Given the description of an element on the screen output the (x, y) to click on. 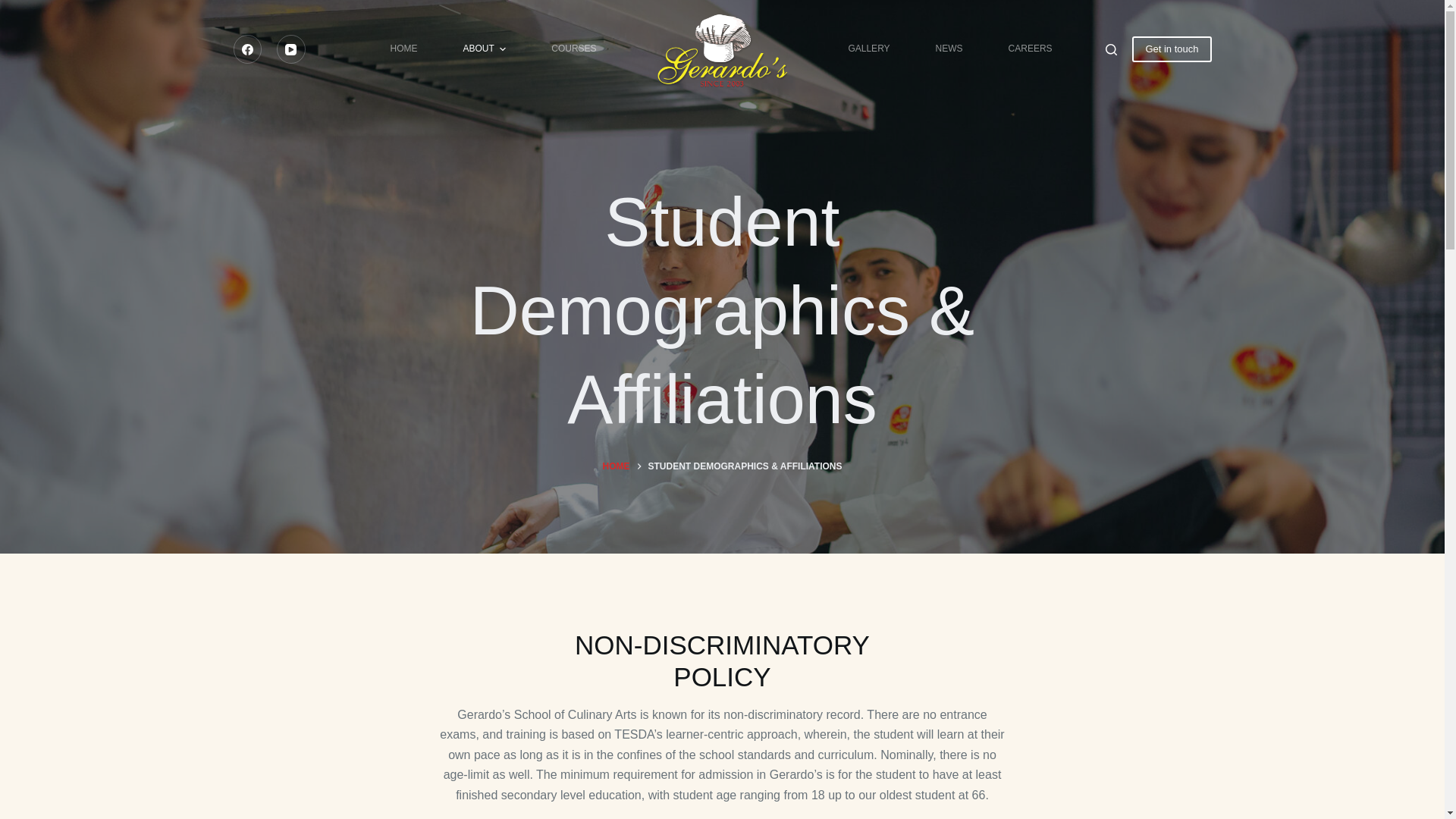
Skip to content (15, 7)
Get in touch (1171, 49)
HOME (615, 467)
ABOUT (483, 49)
